Given the description of an element on the screen output the (x, y) to click on. 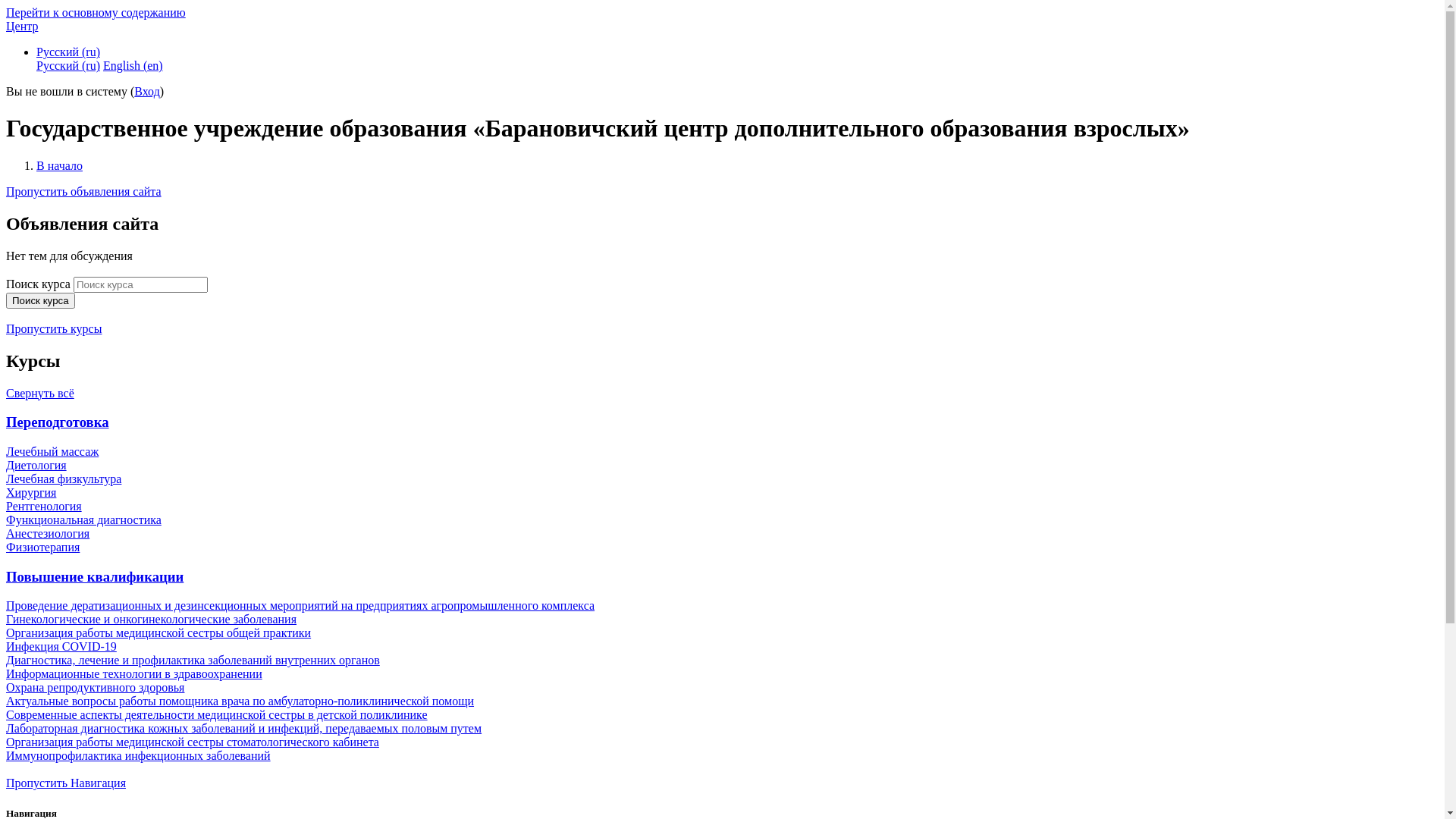
English (en) Element type: text (133, 65)
